Given the description of an element on the screen output the (x, y) to click on. 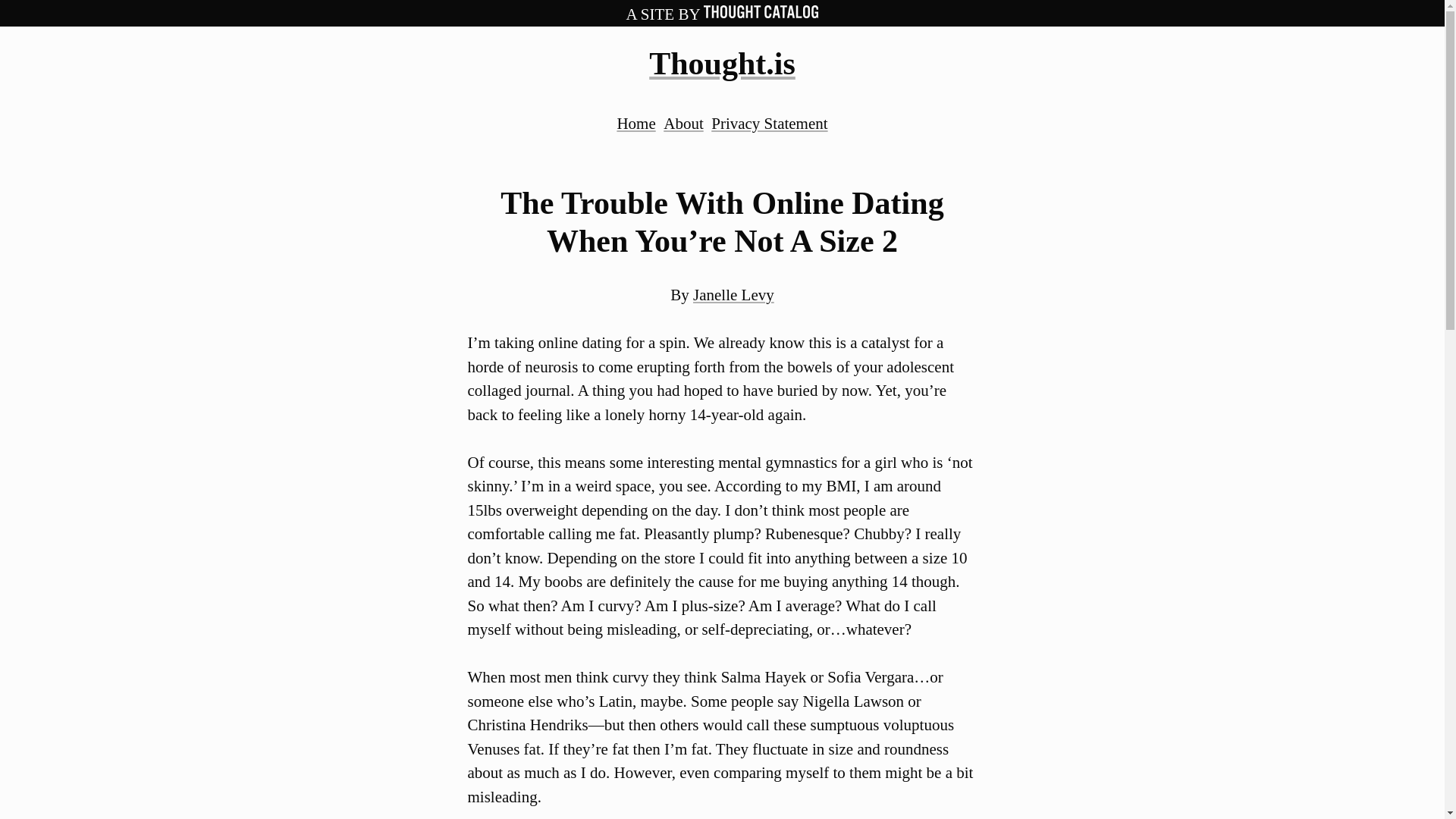
Janelle Levy (733, 294)
THOUGHT CATALOG (760, 13)
THOUGHT CATALOG (760, 11)
Privacy Statement (769, 123)
Posts by Janelle Levy (733, 294)
About (683, 123)
Thought.is (721, 63)
Home (635, 123)
